Given the description of an element on the screen output the (x, y) to click on. 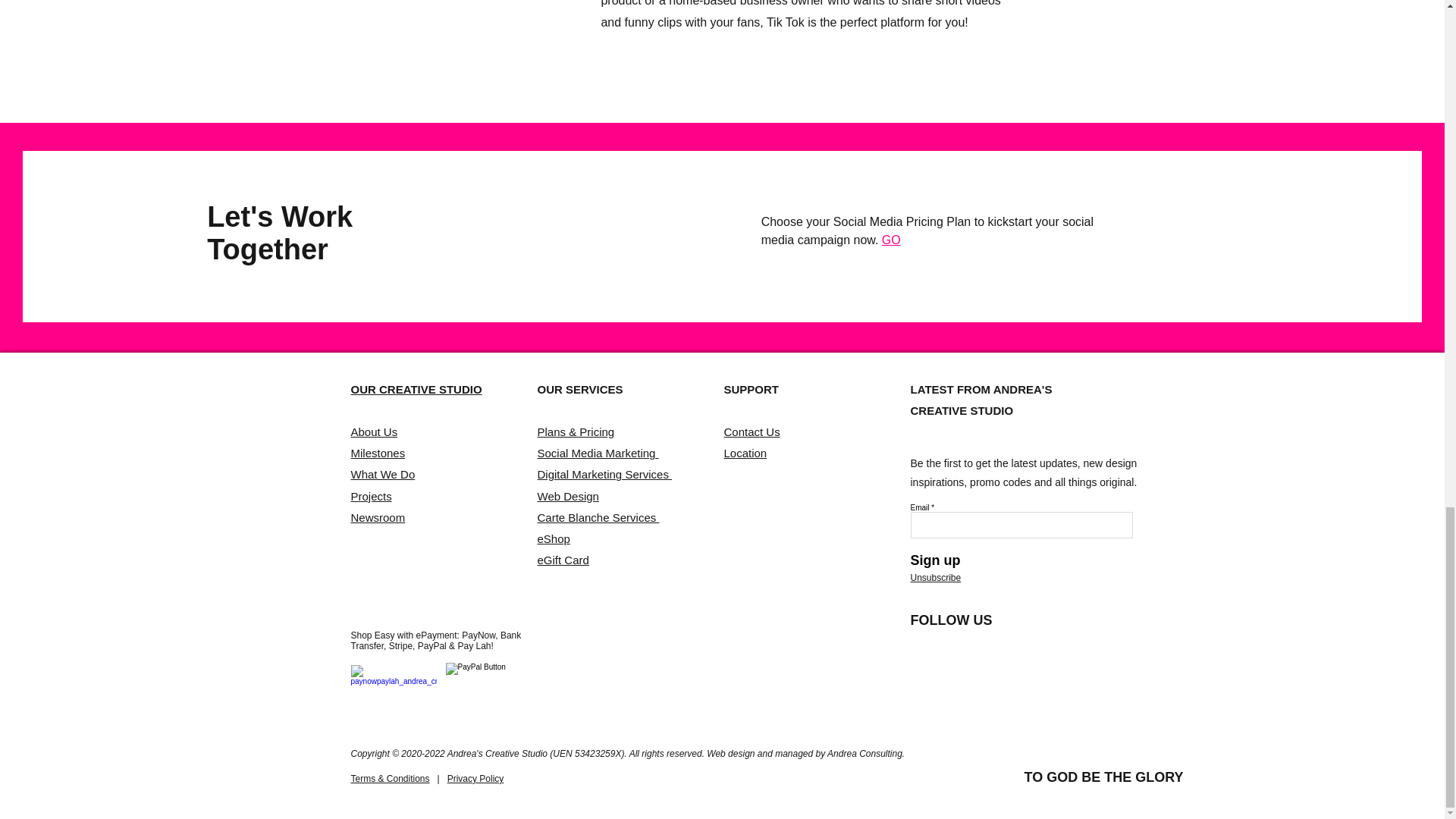
Milestones (377, 452)
Social Media Marketing  (597, 452)
Carte Blanche Services  (598, 517)
Sign up (938, 559)
OUR CREATIVE STUDIO (415, 389)
Newsroom (377, 517)
Projects (370, 495)
What We Do (382, 473)
Contact Us (750, 431)
About Us (373, 431)
Location (745, 452)
Web Design (567, 495)
Digital Marketing Services  (604, 473)
Unsubscribe (935, 577)
eGift Card (562, 559)
